Given the description of an element on the screen output the (x, y) to click on. 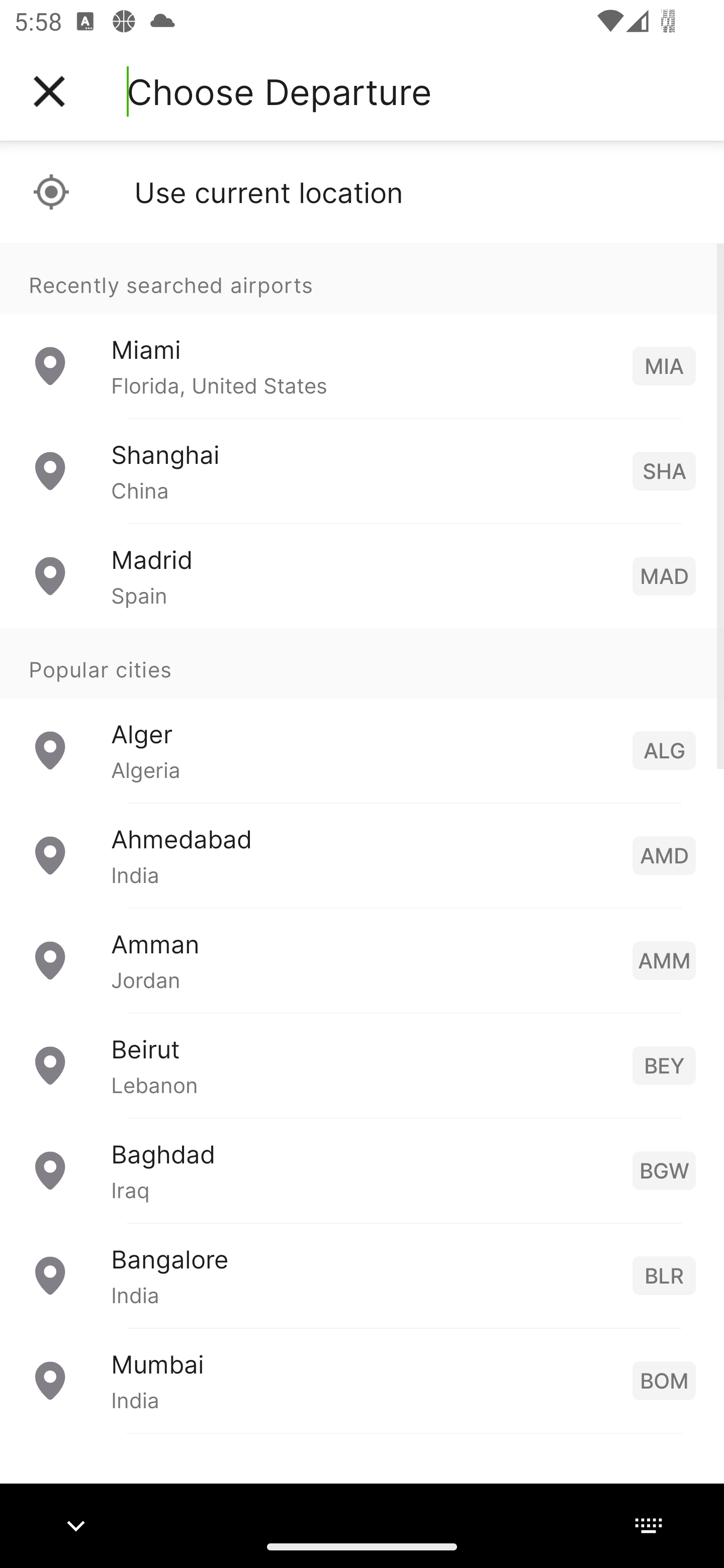
Choose Departure (279, 91)
Use current location (362, 192)
Recently searched airports (362, 278)
Shanghai China SHA (362, 470)
Madrid Spain MAD (362, 575)
Popular cities Alger Algeria ALG (362, 715)
Popular cities (362, 663)
Ahmedabad India AMD (362, 854)
Amman Jordan AMM (362, 959)
Beirut Lebanon BEY (362, 1064)
Baghdad Iraq BGW (362, 1170)
Bangalore India BLR (362, 1275)
Mumbai India BOM (362, 1380)
